Given the description of an element on the screen output the (x, y) to click on. 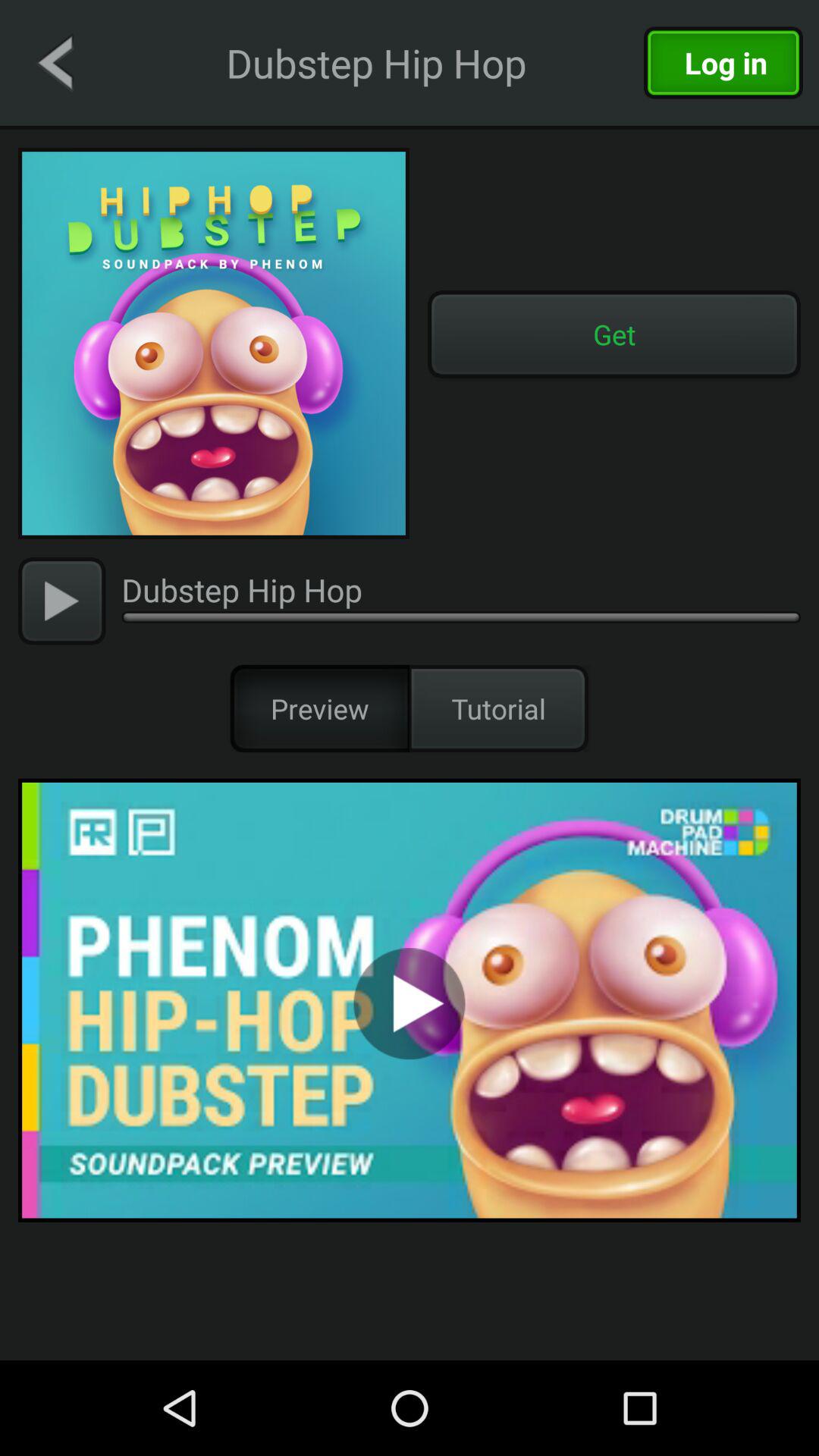
go back (54, 62)
